Given the description of an element on the screen output the (x, y) to click on. 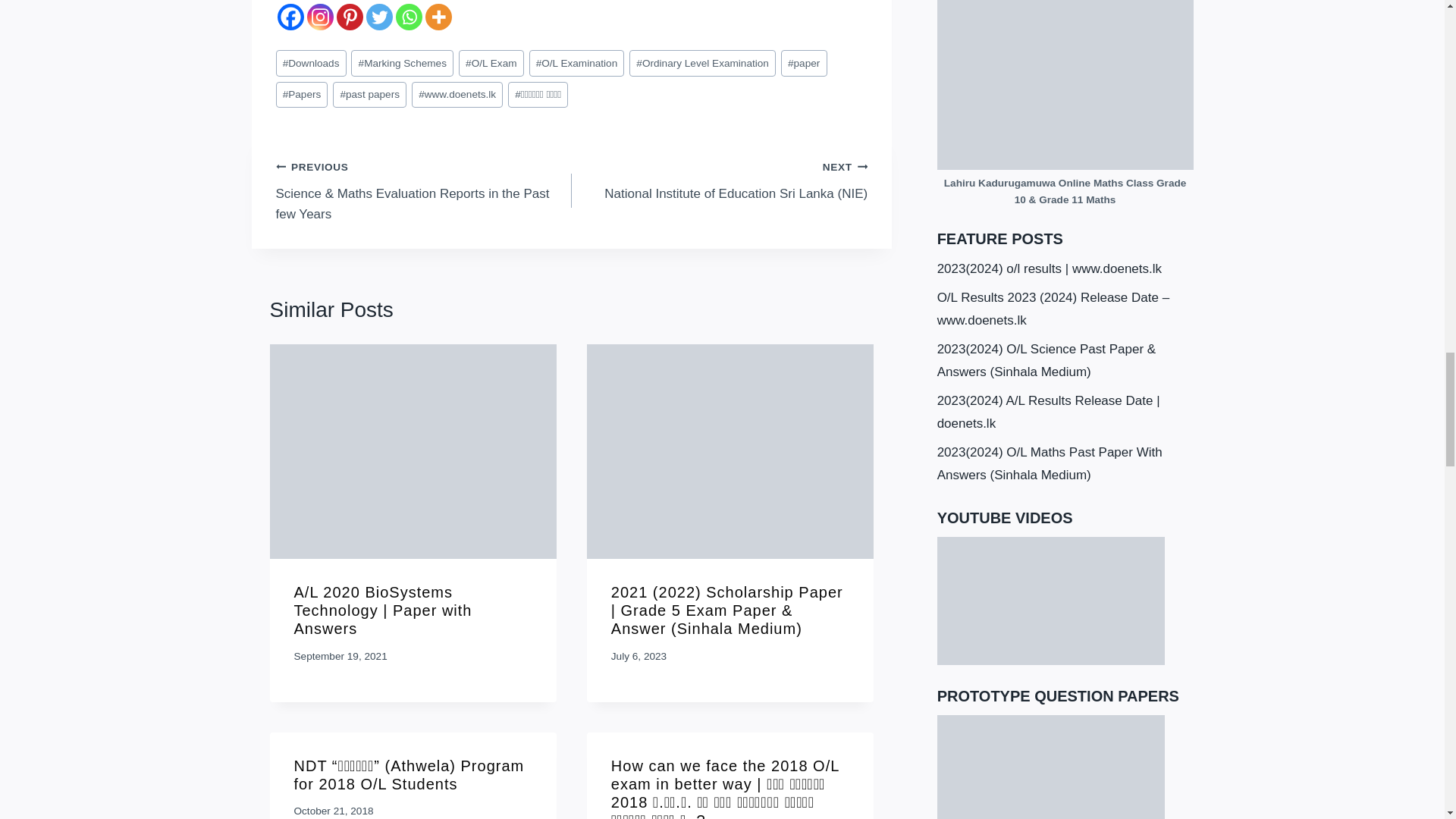
Facebook (291, 17)
Pinterest (349, 17)
Instagram (319, 17)
